Given the description of an element on the screen output the (x, y) to click on. 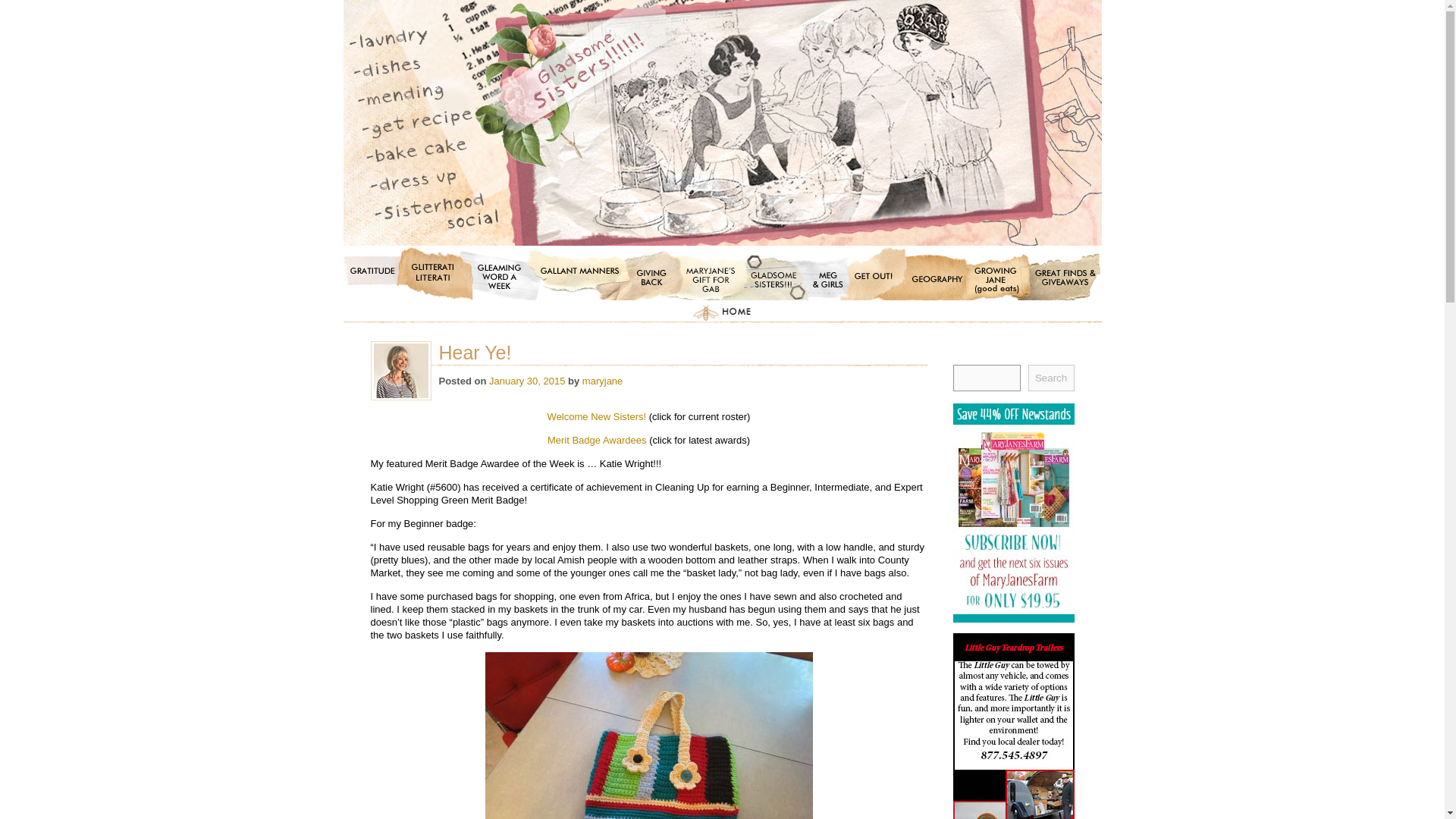
Welcome New Sisters! (598, 416)
Search (1050, 377)
View all posts by maryjane (602, 380)
January 30, 2015 (526, 380)
Merit Badge Awardees (598, 439)
maryjane (602, 380)
12:08 am (526, 380)
